Given the description of an element on the screen output the (x, y) to click on. 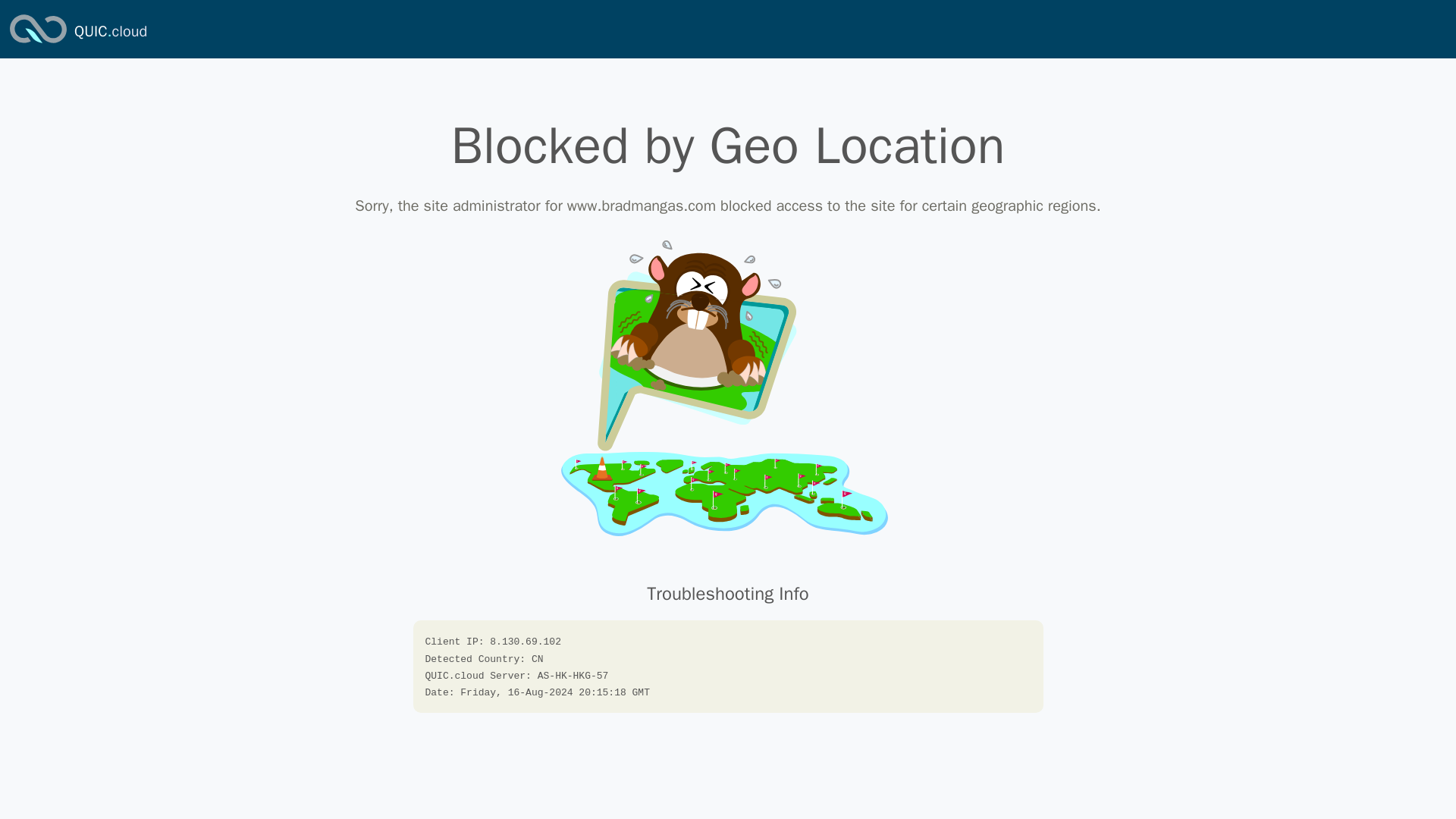
QUIC.cloud (110, 31)
QUIC.cloud (110, 31)
QUIC.cloud (37, 43)
